Given the description of an element on the screen output the (x, y) to click on. 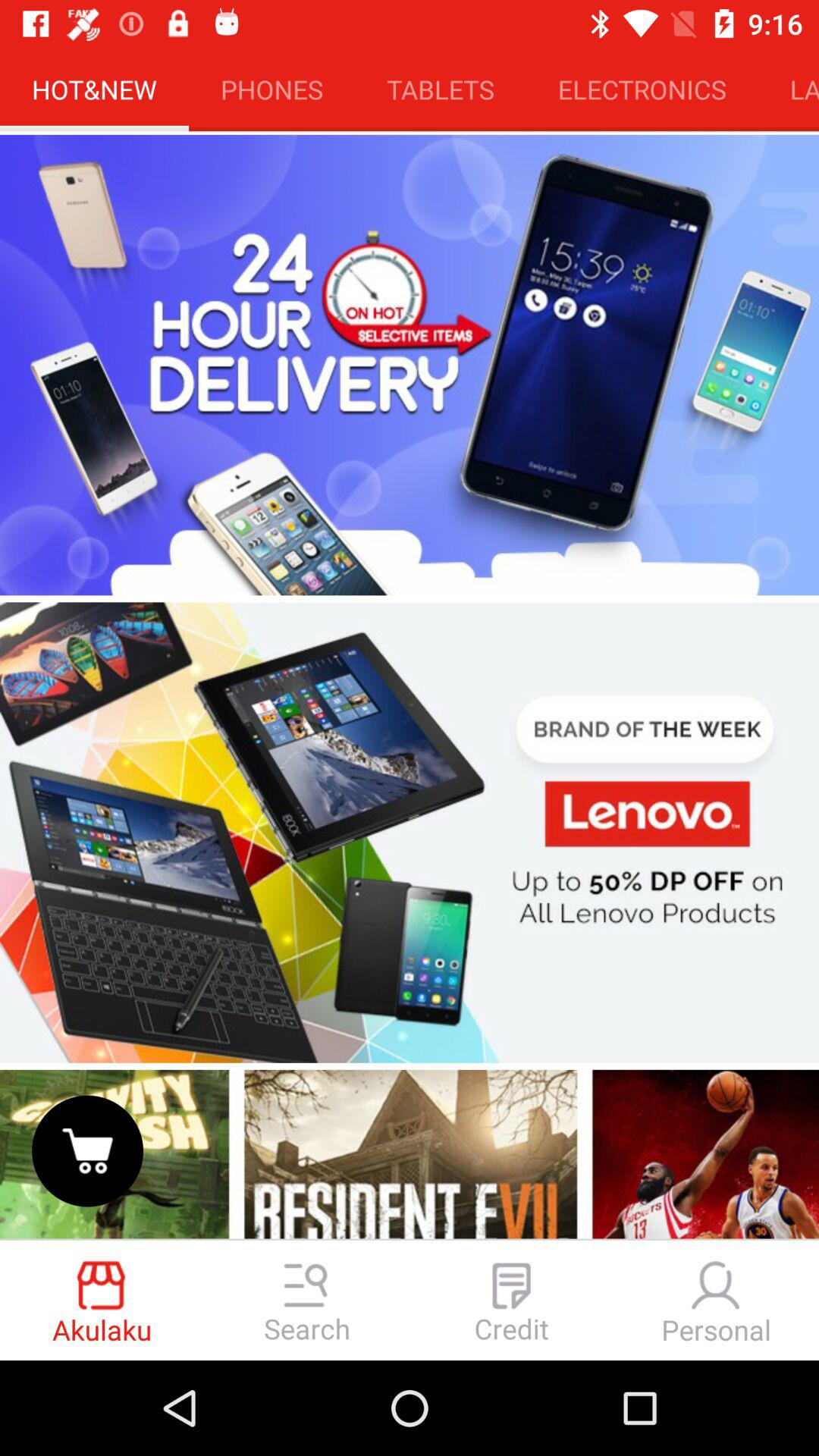
view shopping cart (87, 1150)
